Given the description of an element on the screen output the (x, y) to click on. 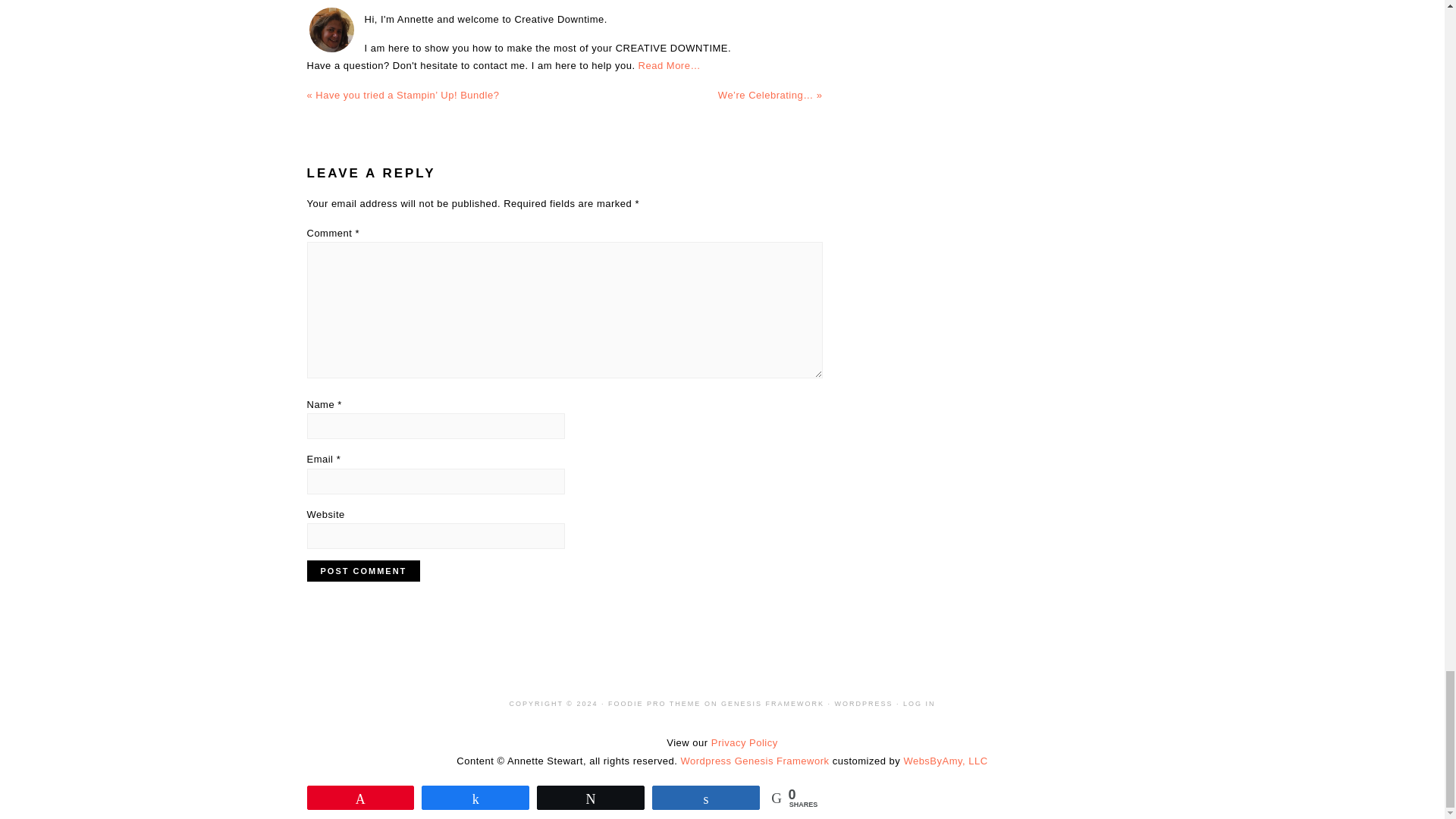
Post Comment (362, 570)
